Given the description of an element on the screen output the (x, y) to click on. 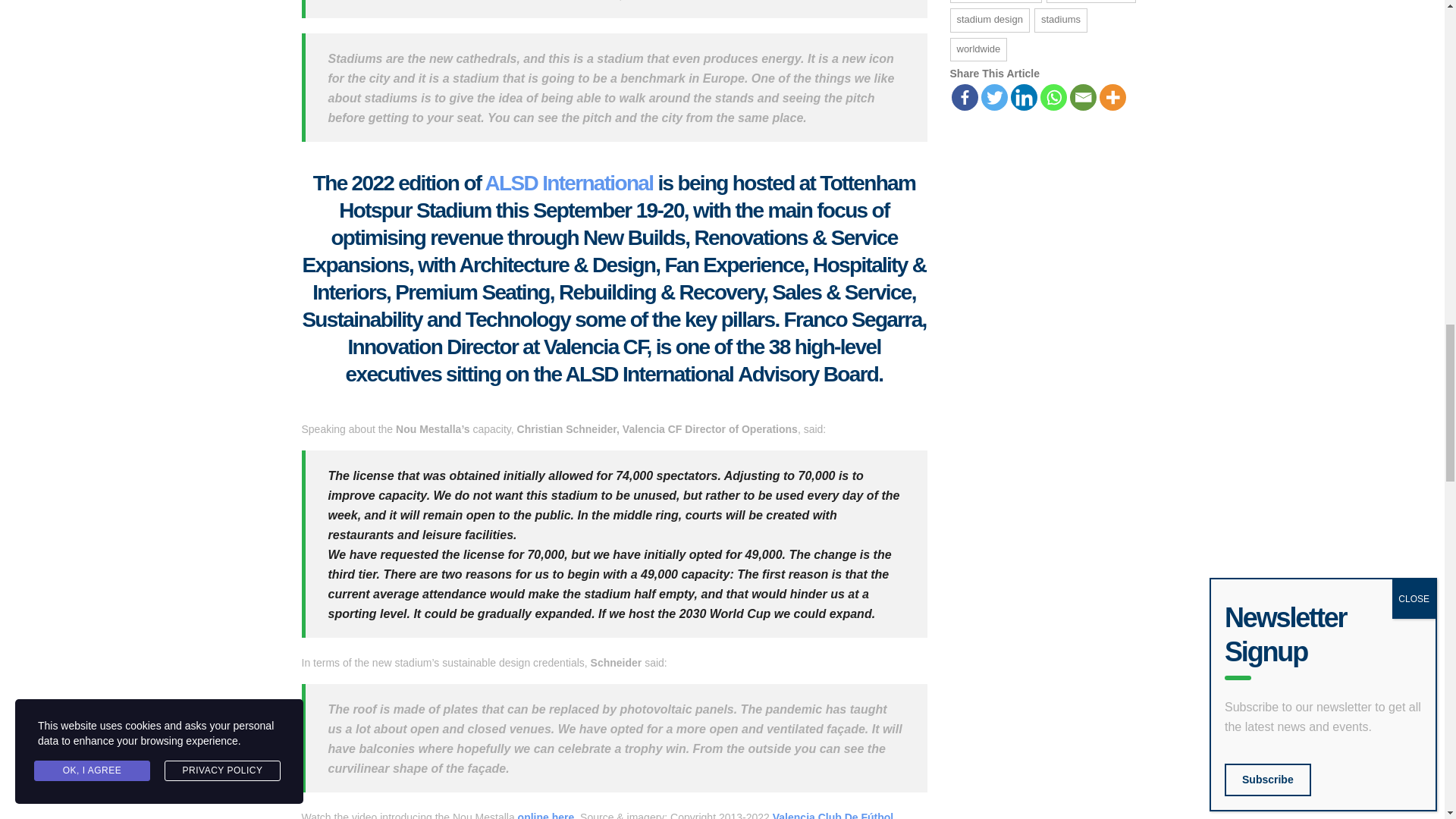
Email (1082, 97)
Linkedin (1023, 97)
Facebook (963, 97)
Whatsapp (1054, 97)
Twitter (994, 97)
